Given the description of an element on the screen output the (x, y) to click on. 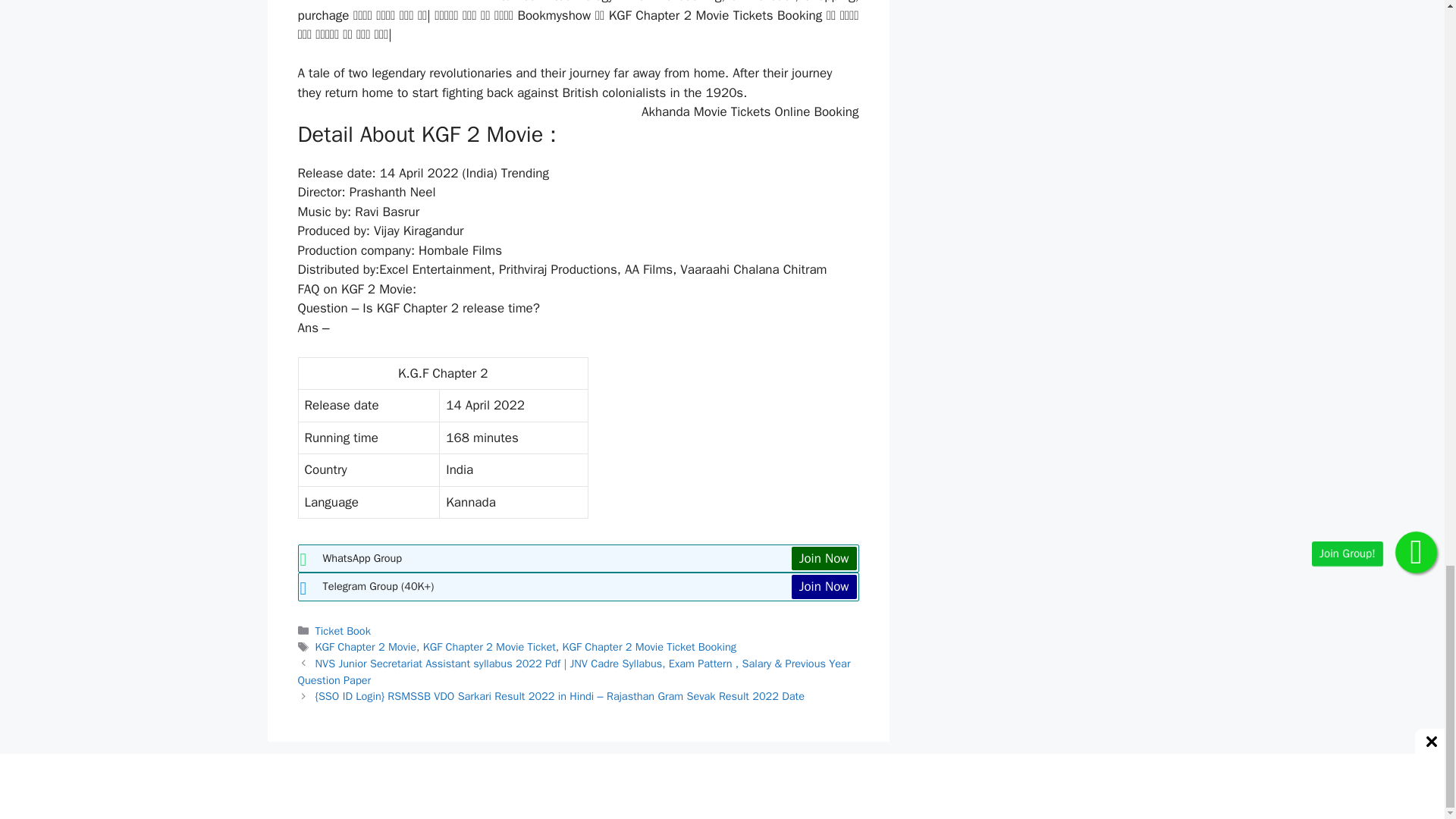
KGF Chapter 2 Movie Ticket (489, 646)
Ticket Book (343, 631)
Join Now (824, 558)
Join Now (824, 586)
Akhanda Movie Tickets Online Booking (750, 111)
KGF Chapter 2 Movie (365, 646)
KGF Chapter 2 Movie Ticket Booking (649, 646)
